Given the description of an element on the screen output the (x, y) to click on. 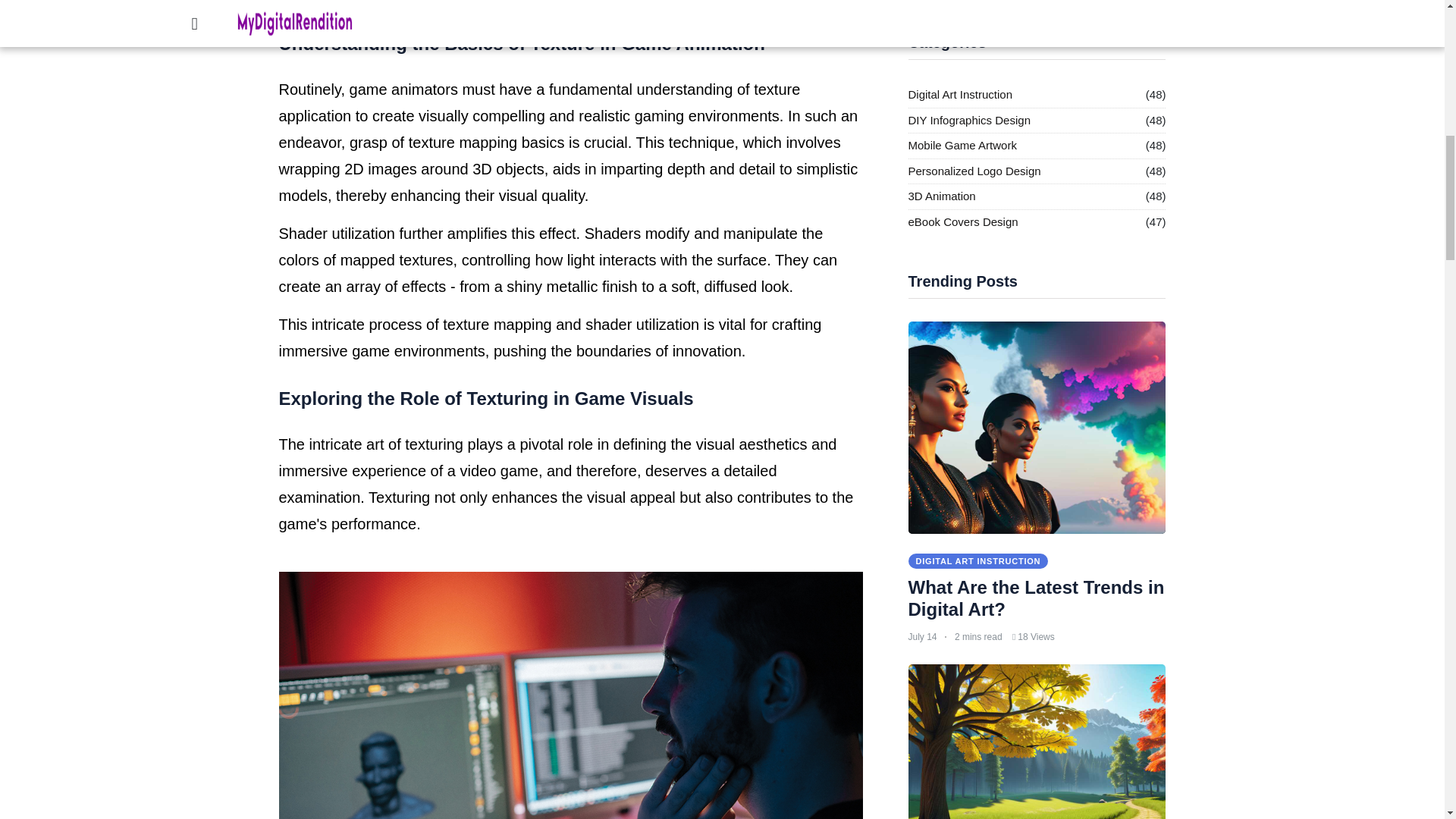
What Are the Latest Trends in Digital Art? (1036, 598)
eBook Covers Design (962, 221)
3D Animation (941, 196)
Mobile Game Artwork (962, 145)
Personalized Logo Design (974, 171)
DIGITAL ART INSTRUCTION (978, 561)
DIY Infographics Design (969, 120)
Digital Art Instruction (960, 95)
